Given the description of an element on the screen output the (x, y) to click on. 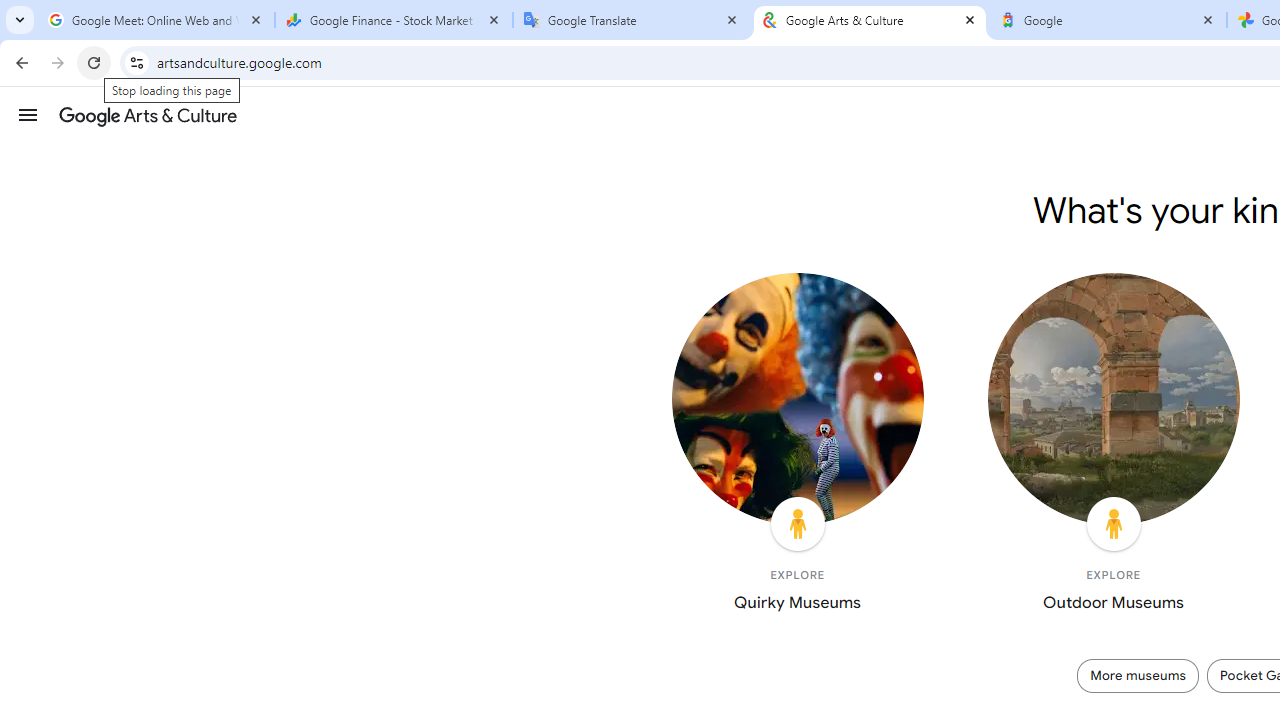
Google Translate (632, 20)
Google (1108, 20)
